Given the description of an element on the screen output the (x, y) to click on. 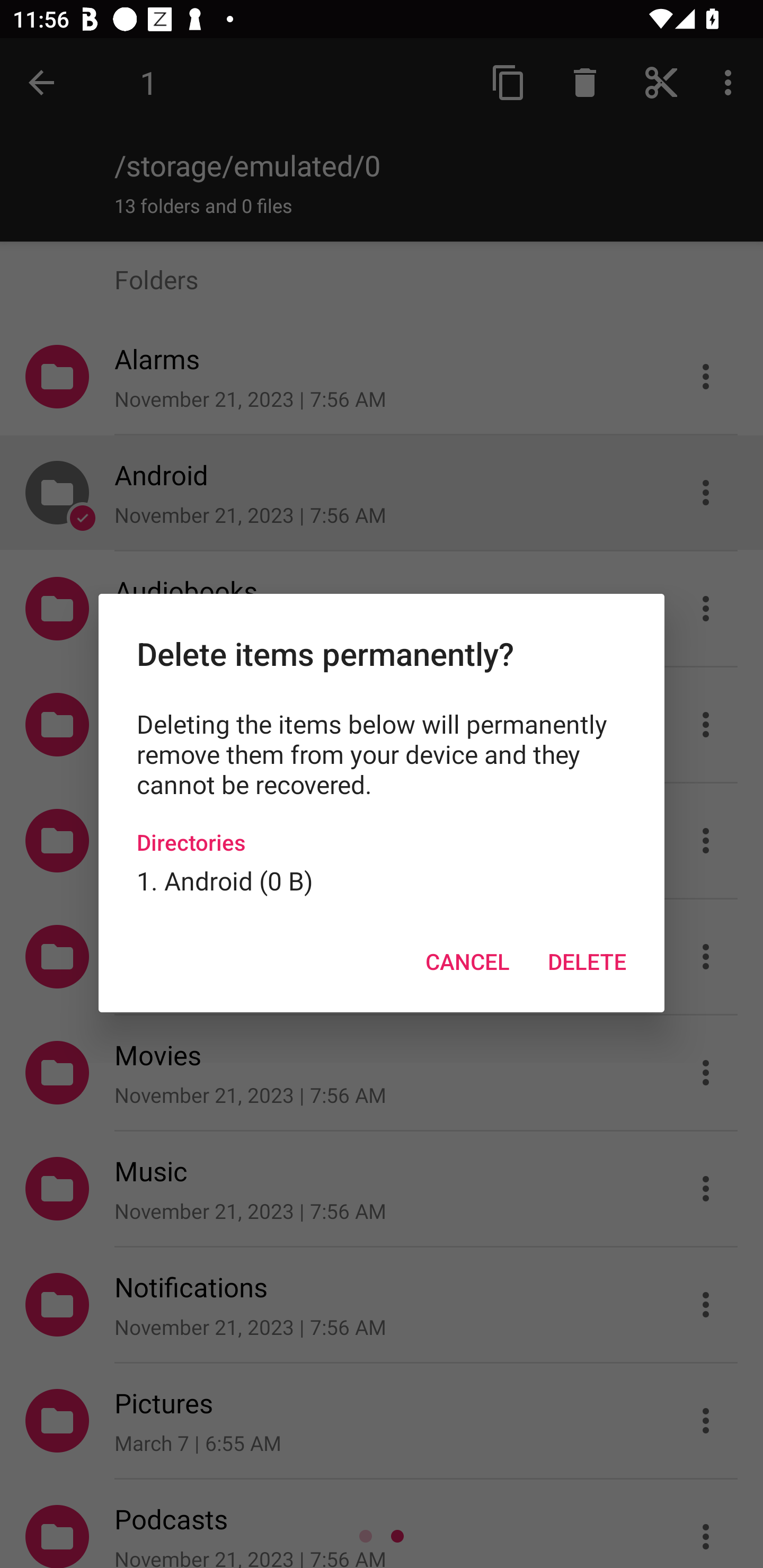
CANCEL (466, 961)
DELETE (586, 961)
